Given the description of an element on the screen output the (x, y) to click on. 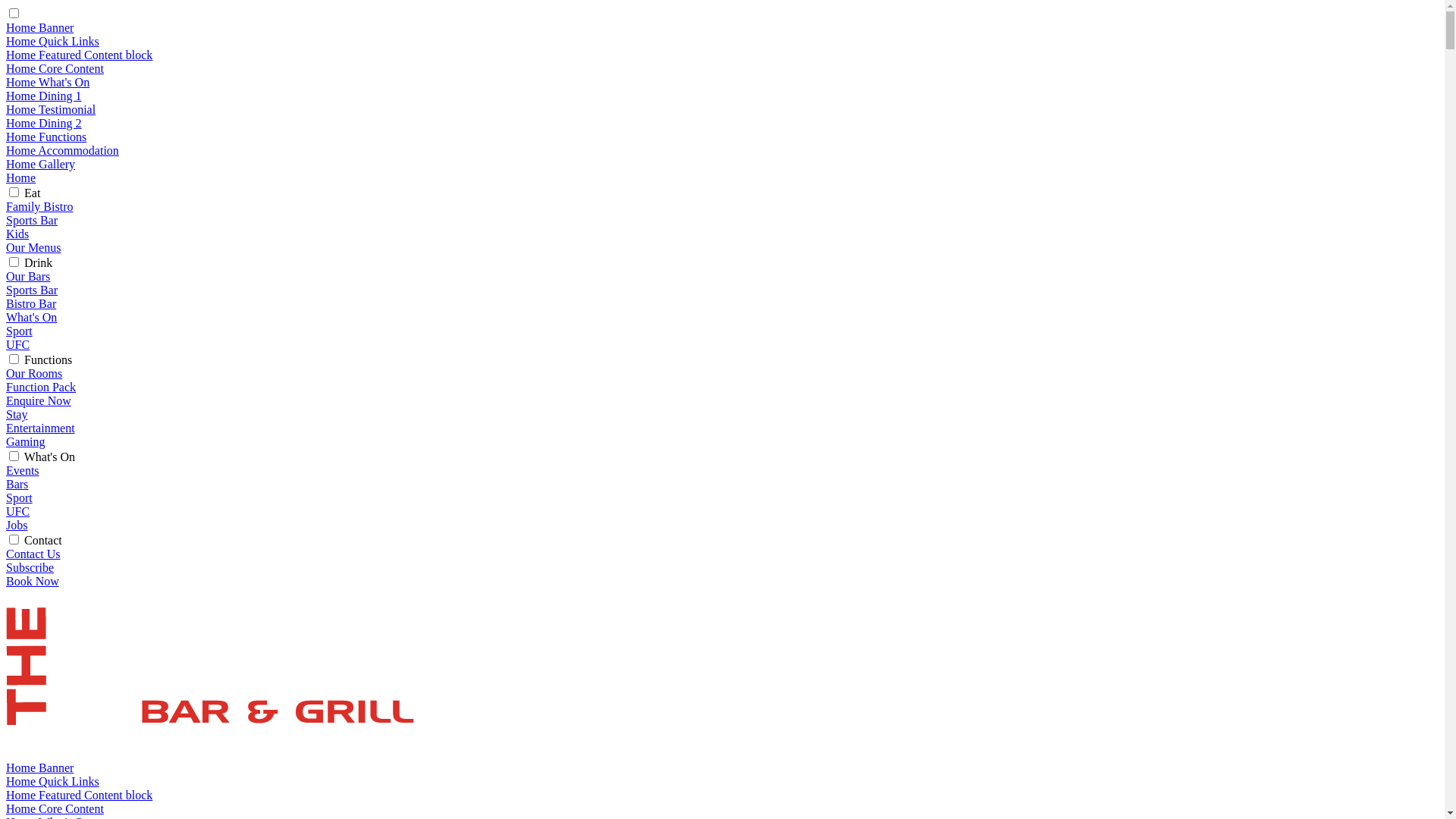
Jobs Element type: text (16, 524)
Sport Element type: text (19, 330)
Our Menus Element type: text (33, 247)
Home Core Content Element type: text (54, 68)
Our Bars Element type: text (28, 275)
Sport Element type: text (19, 497)
Gaming Element type: text (25, 441)
Stay Element type: text (16, 413)
Home Quick Links Element type: text (52, 781)
Function Pack Element type: text (40, 386)
Contact Element type: text (43, 539)
Contact Us Element type: text (33, 553)
Home Quick Links Element type: text (52, 40)
Home Gallery Element type: text (40, 163)
Family Bistro Element type: text (39, 206)
Home Functions Element type: text (46, 136)
Home Accommodation Element type: text (62, 150)
Home Banner Element type: text (39, 27)
Home Element type: text (20, 177)
Home Banner Element type: text (39, 767)
Subscribe Element type: text (29, 567)
Home Dining 1 Element type: text (43, 95)
Sports Bar Element type: text (31, 289)
Drink Element type: text (38, 262)
Enquire Now Element type: text (38, 400)
Eat Element type: text (32, 192)
Home Dining 2 Element type: text (43, 122)
Entertainment Element type: text (40, 427)
UFC Element type: text (17, 344)
Our Rooms Element type: text (34, 373)
UFC Element type: text (17, 511)
Home Testimonial Element type: text (50, 109)
Home Core Content Element type: text (54, 808)
Events Element type: text (22, 470)
Bars Element type: text (17, 483)
Book Now Element type: text (32, 580)
Kids Element type: text (17, 233)
Functions Element type: text (48, 359)
What's On Element type: text (31, 316)
Sports Bar Element type: text (31, 219)
Home Featured Content block Element type: text (79, 794)
What's On Element type: text (49, 456)
Bistro Bar Element type: text (31, 303)
Home Featured Content block Element type: text (79, 54)
Home What's On Element type: text (47, 81)
